Given the description of an element on the screen output the (x, y) to click on. 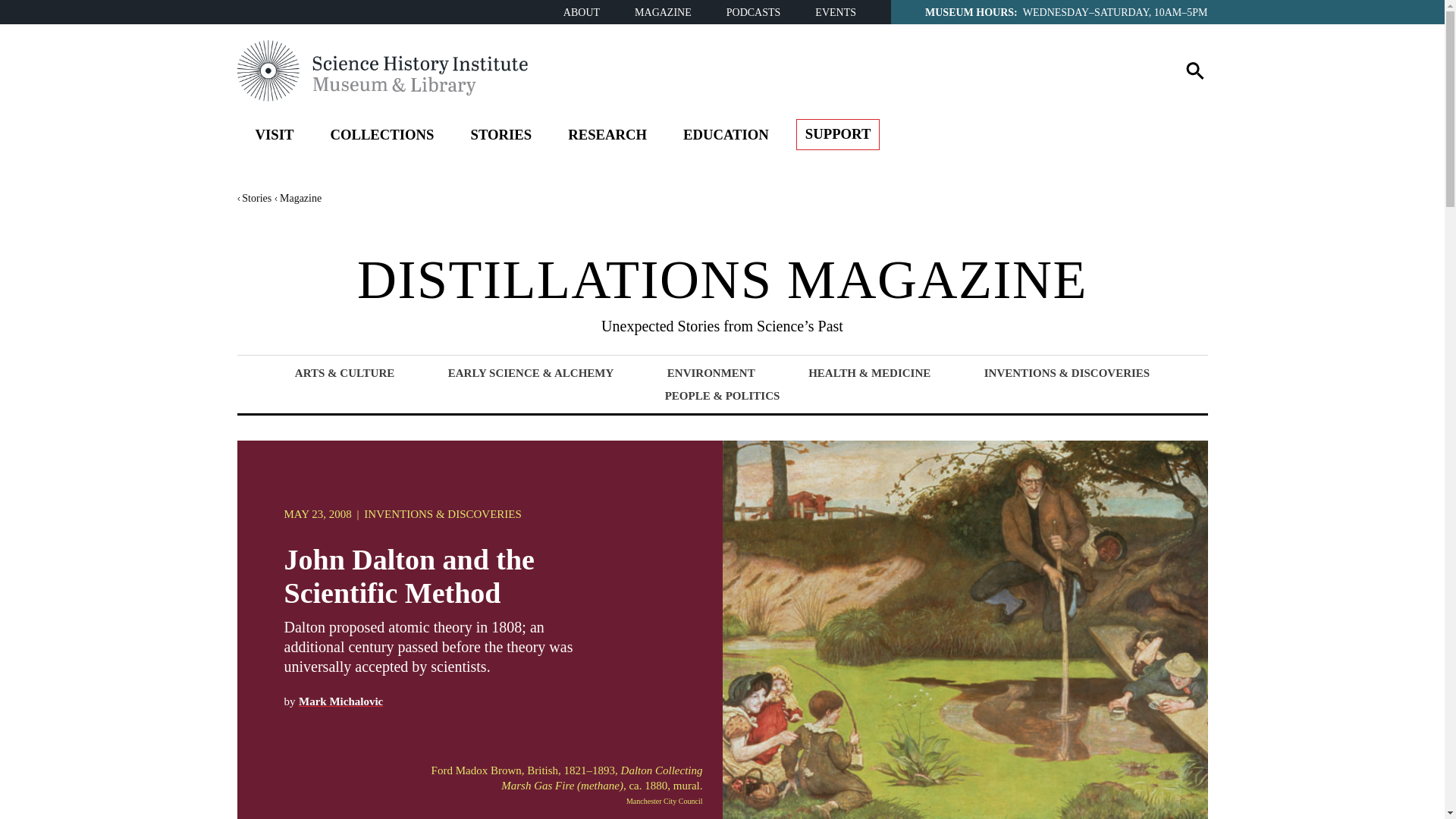
EDUCATION (726, 137)
VISIT (274, 137)
PODCASTS (753, 12)
ABOUT (581, 12)
EVENTS (835, 12)
COLLECTIONS (381, 137)
STORIES (500, 137)
MUSEUM HOURS (968, 11)
MAGAZINE (663, 12)
RESEARCH (607, 137)
